Given the description of an element on the screen output the (x, y) to click on. 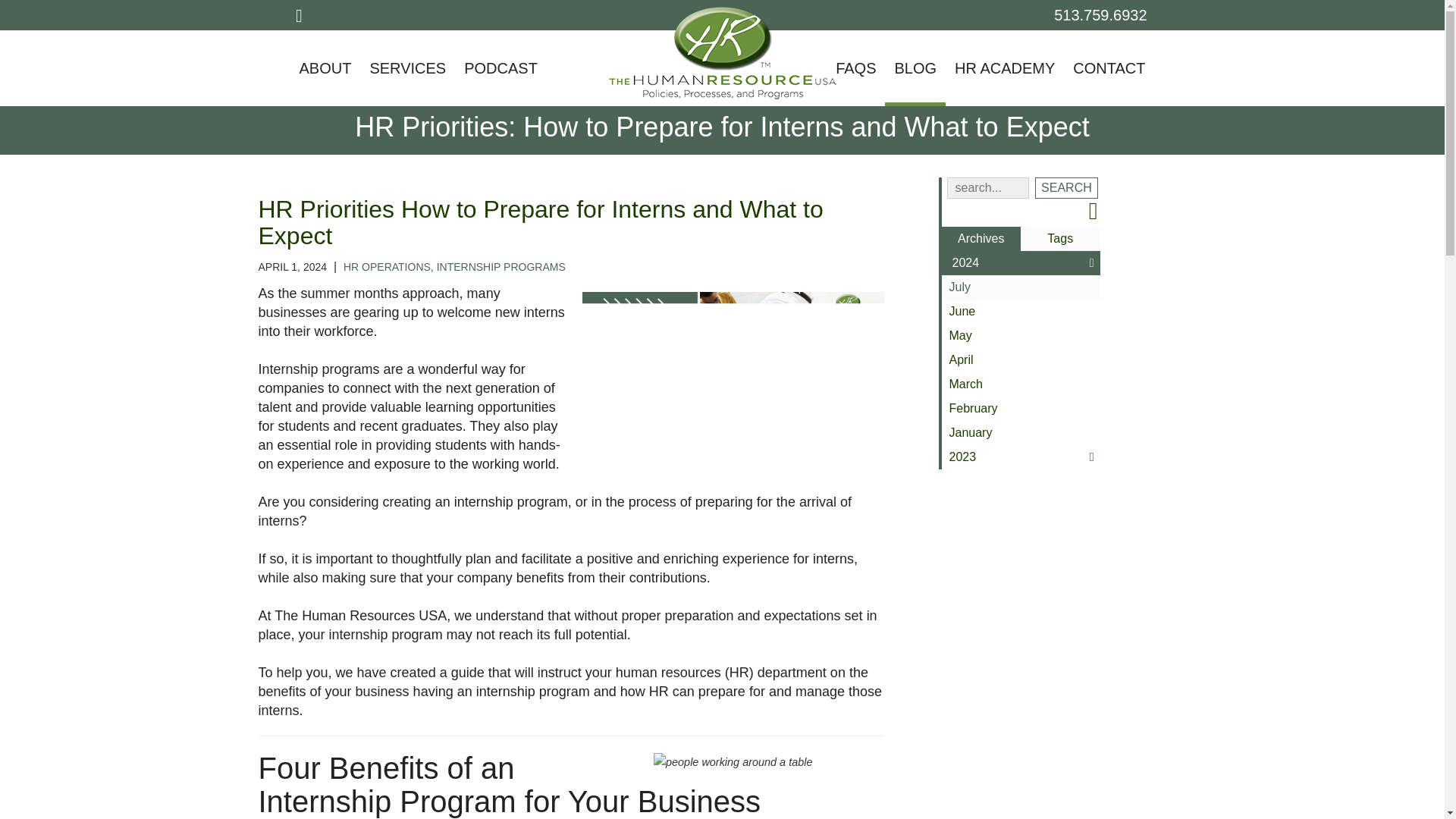
Archives (982, 238)
Search (1067, 188)
Tags (1060, 238)
PODCAST (500, 68)
SERVICES (406, 68)
May (1021, 335)
HR ACADEMY (1004, 68)
March (1021, 384)
ABOUT (324, 68)
2024 (1021, 262)
Search (1067, 188)
July (1021, 287)
January (1021, 432)
June (1021, 311)
CONTACT (1109, 68)
